Given the description of an element on the screen output the (x, y) to click on. 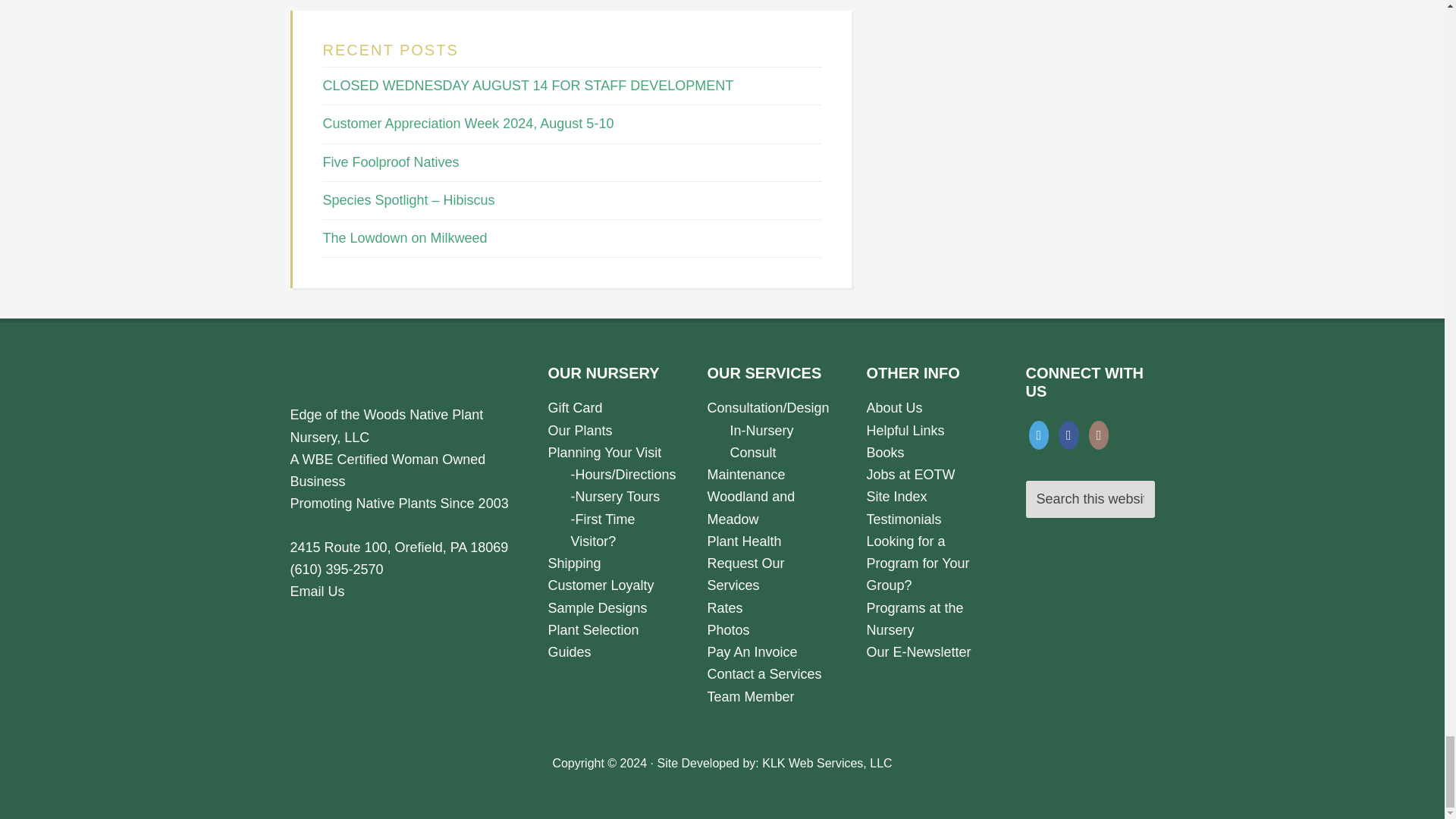
Gift Card (574, 407)
The Lowdown on Milkweed (405, 237)
-First Time Visitor? (602, 529)
Customer Appreciation Week 2024, August 5-10 (468, 123)
Our Plants (579, 430)
Planning Your Visit (604, 452)
-Nursery Tours (614, 496)
Five Foolproof Natives (391, 161)
Email Us (316, 590)
